Given the description of an element on the screen output the (x, y) to click on. 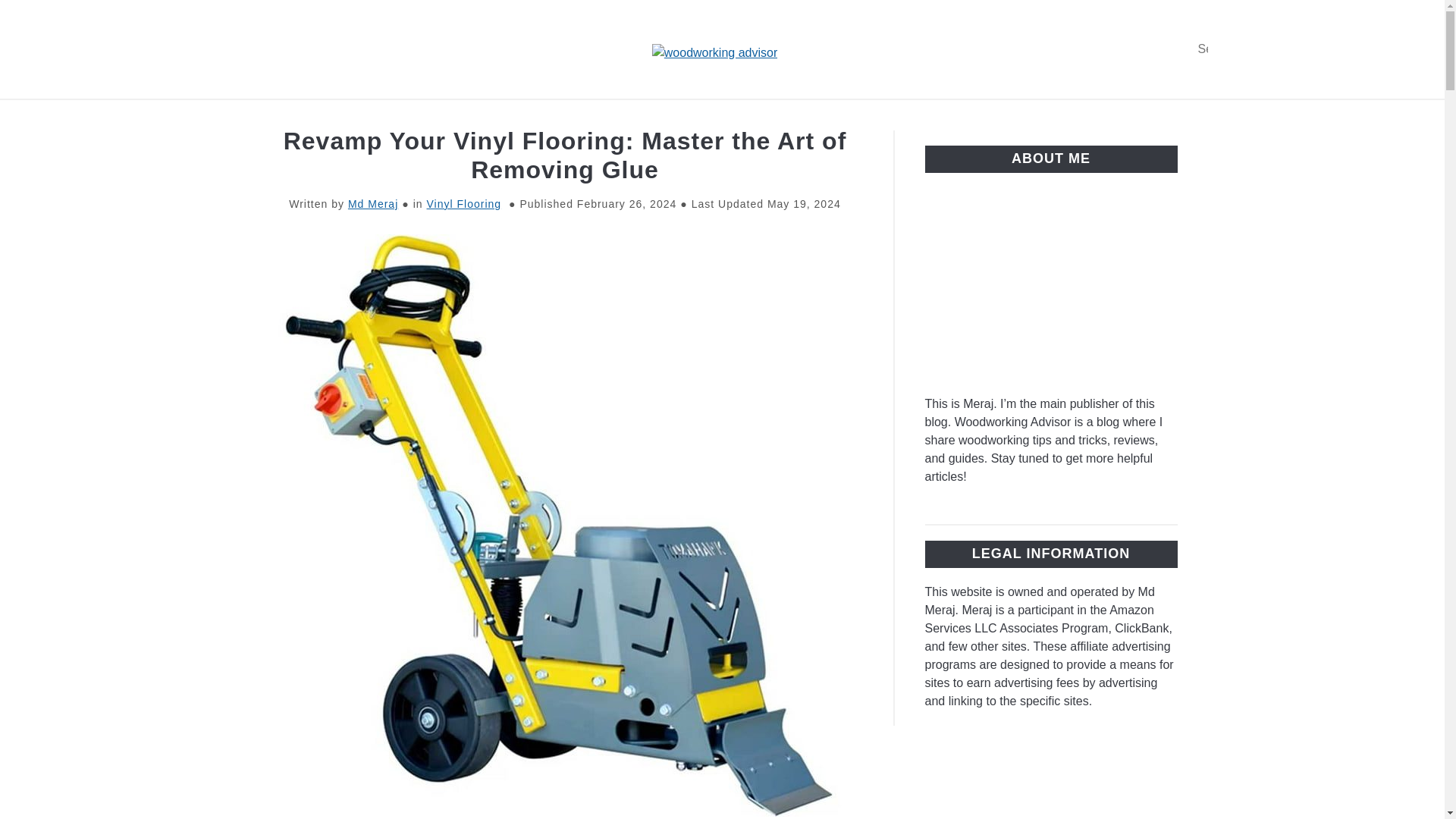
Search (1203, 49)
TYPES OF WOOD (328, 117)
WOODWORKING PROJECTS (1082, 117)
WOODWORKING TIPS (491, 117)
CALCULATORS (907, 117)
WOODWORKING SAWS (748, 117)
WOOD (616, 117)
